Given the description of an element on the screen output the (x, y) to click on. 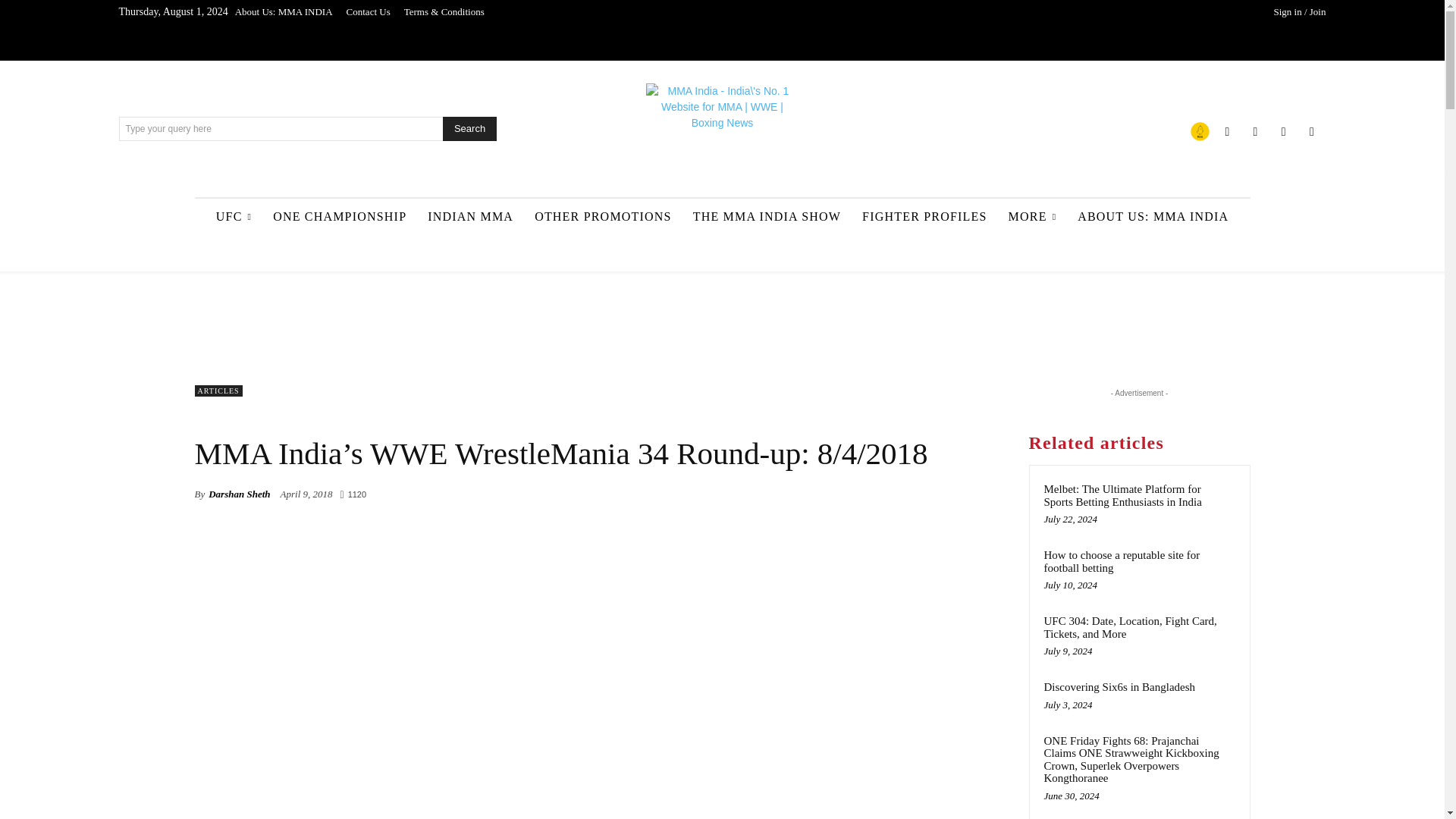
Behance (1199, 131)
Twitter (1283, 131)
Instagram (1254, 131)
Contact Us (368, 12)
Search (469, 128)
Youtube (1311, 131)
UFC (233, 217)
About Us: MMA INDIA (283, 12)
Facebook (1227, 131)
